Given the description of an element on the screen output the (x, y) to click on. 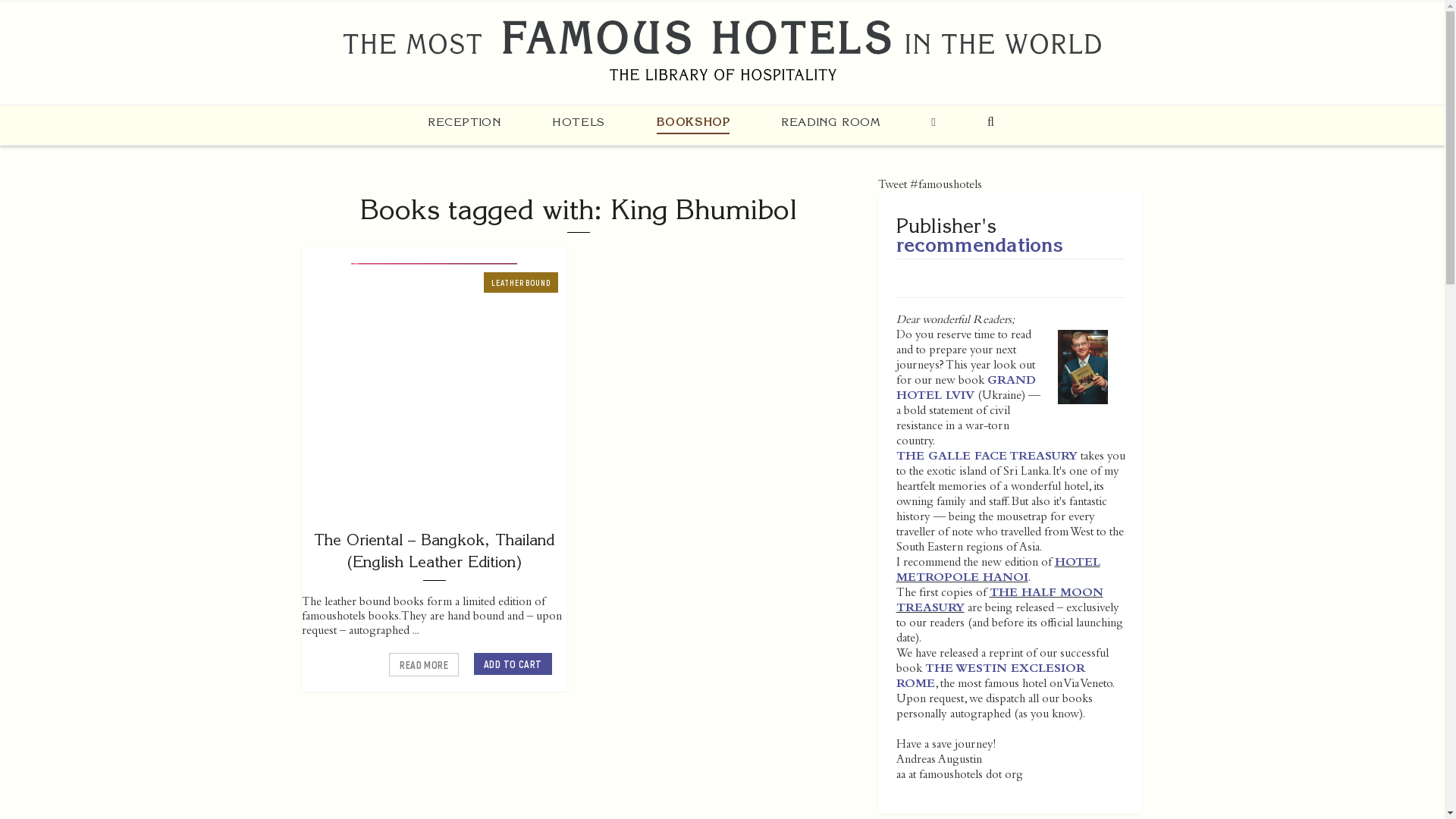
HOTELS (578, 121)
RECEPTION (464, 121)
BOOKSHOP (693, 122)
